Given the description of an element on the screen output the (x, y) to click on. 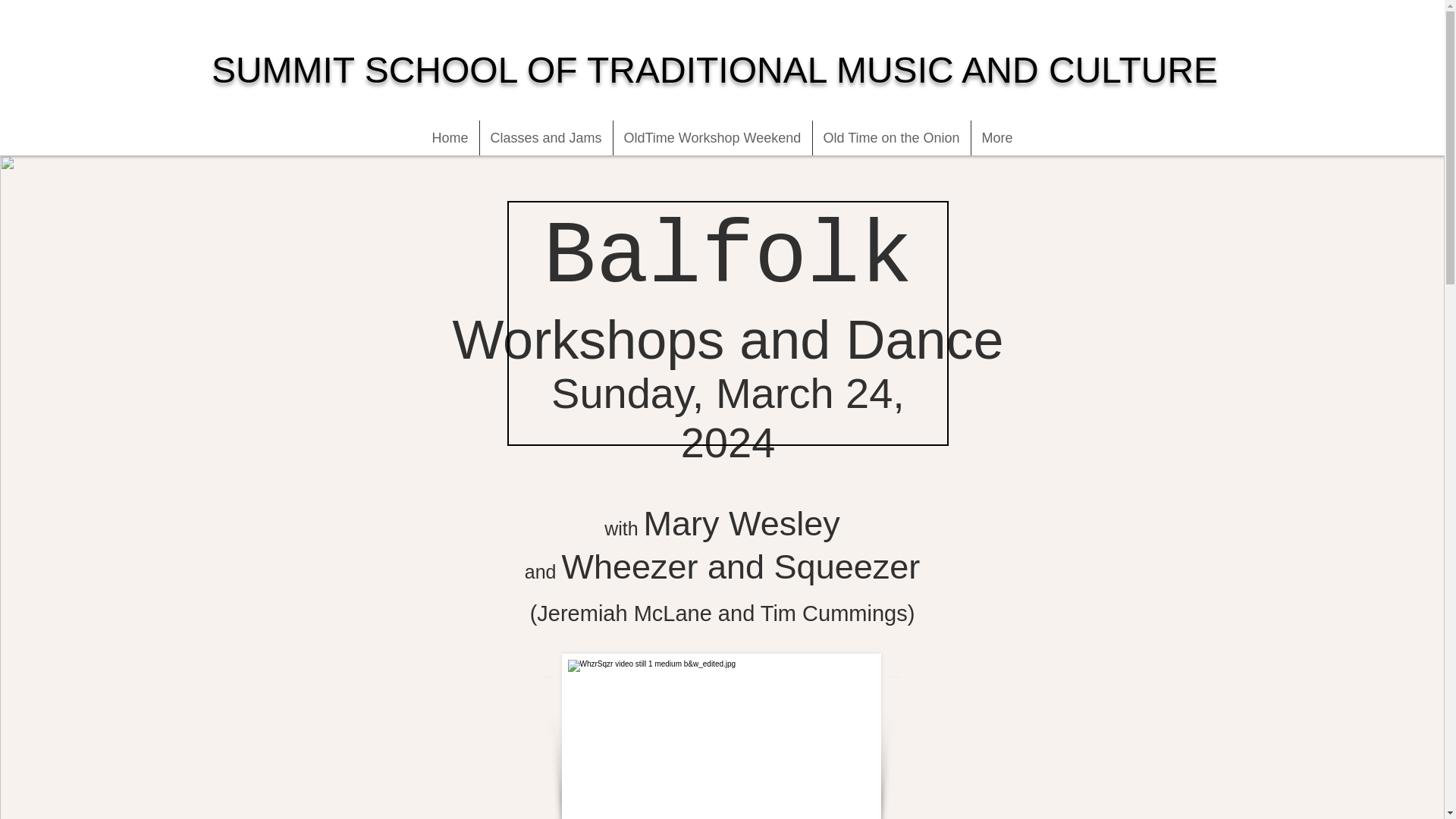
Classes and Jams (545, 137)
OldTime Workshop Weekend (711, 137)
Old Time on the Onion (891, 137)
Home (450, 137)
